Given the description of an element on the screen output the (x, y) to click on. 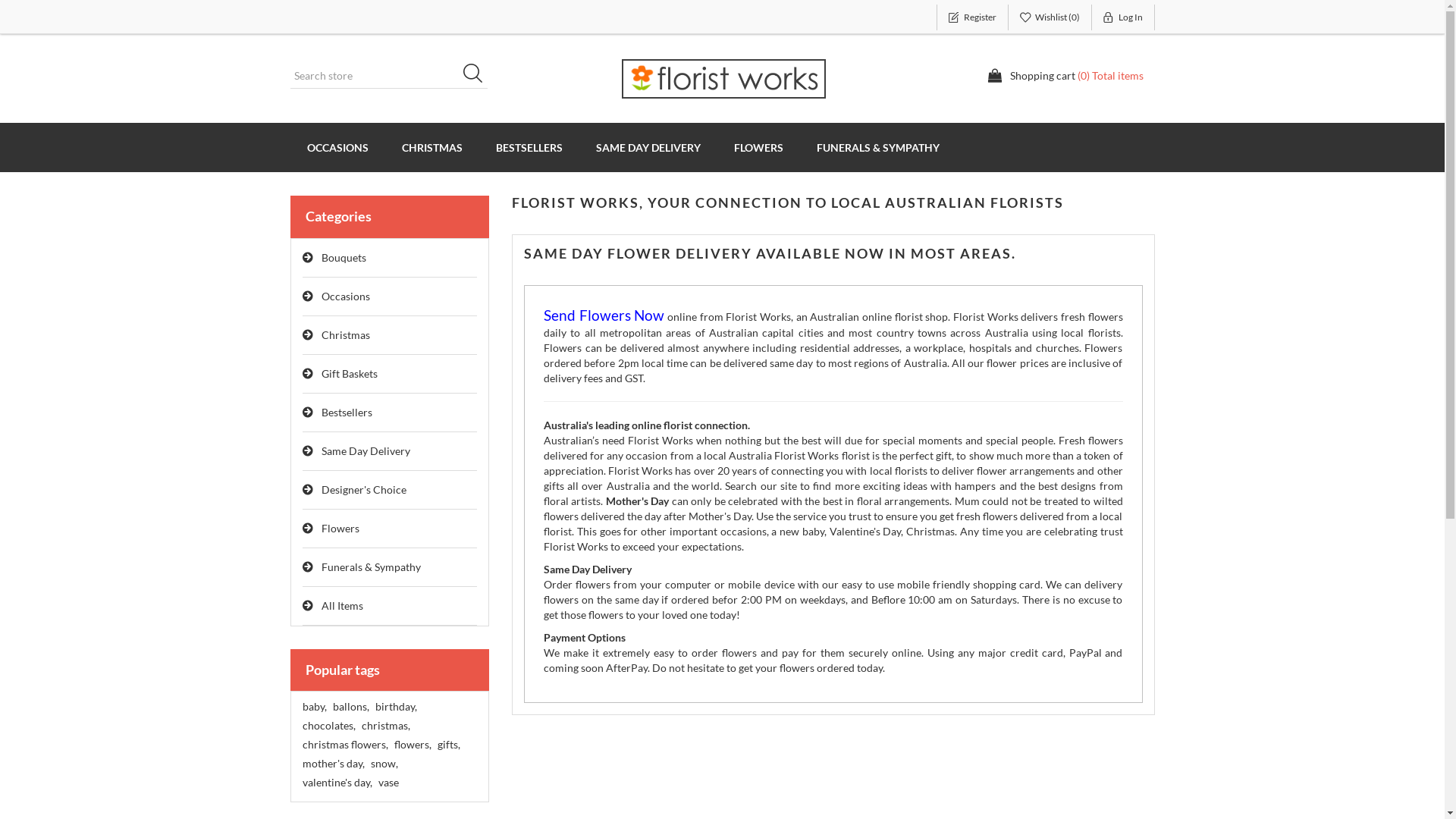
SAME DAY DELIVERY Element type: text (648, 147)
Designer's Choice Element type: text (388, 489)
Wishlist (0) Element type: text (1050, 17)
Shopping cart (0) Total items Element type: text (1065, 75)
Christmas Element type: text (388, 335)
FLOWERS Element type: text (758, 147)
gifts, Element type: text (447, 744)
mother's day, Element type: text (332, 763)
Same Day Delivery Element type: text (388, 451)
Funerals & Sympathy Element type: text (388, 567)
OCCASIONS Element type: text (336, 147)
snow, Element type: text (383, 763)
christmas, Element type: text (384, 725)
FUNERALS & SYMPATHY Element type: text (877, 147)
Register Element type: text (971, 17)
vase Element type: text (387, 782)
valentine's day, Element type: text (336, 782)
Bestsellers Element type: text (388, 412)
Flowers Element type: text (388, 528)
flowers, Element type: text (412, 744)
christmas flowers, Element type: text (344, 744)
BESTSELLERS Element type: text (529, 147)
Gift Baskets Element type: text (388, 373)
Bouquets Element type: text (388, 257)
birthday, Element type: text (395, 706)
Log In Element type: text (1123, 17)
All Items Element type: text (388, 605)
Occasions Element type: text (388, 296)
CHRISTMAS Element type: text (432, 147)
baby, Element type: text (313, 706)
Send Flowers Now Element type: text (603, 316)
ballons, Element type: text (350, 706)
chocolates, Element type: text (327, 725)
